Given the description of an element on the screen output the (x, y) to click on. 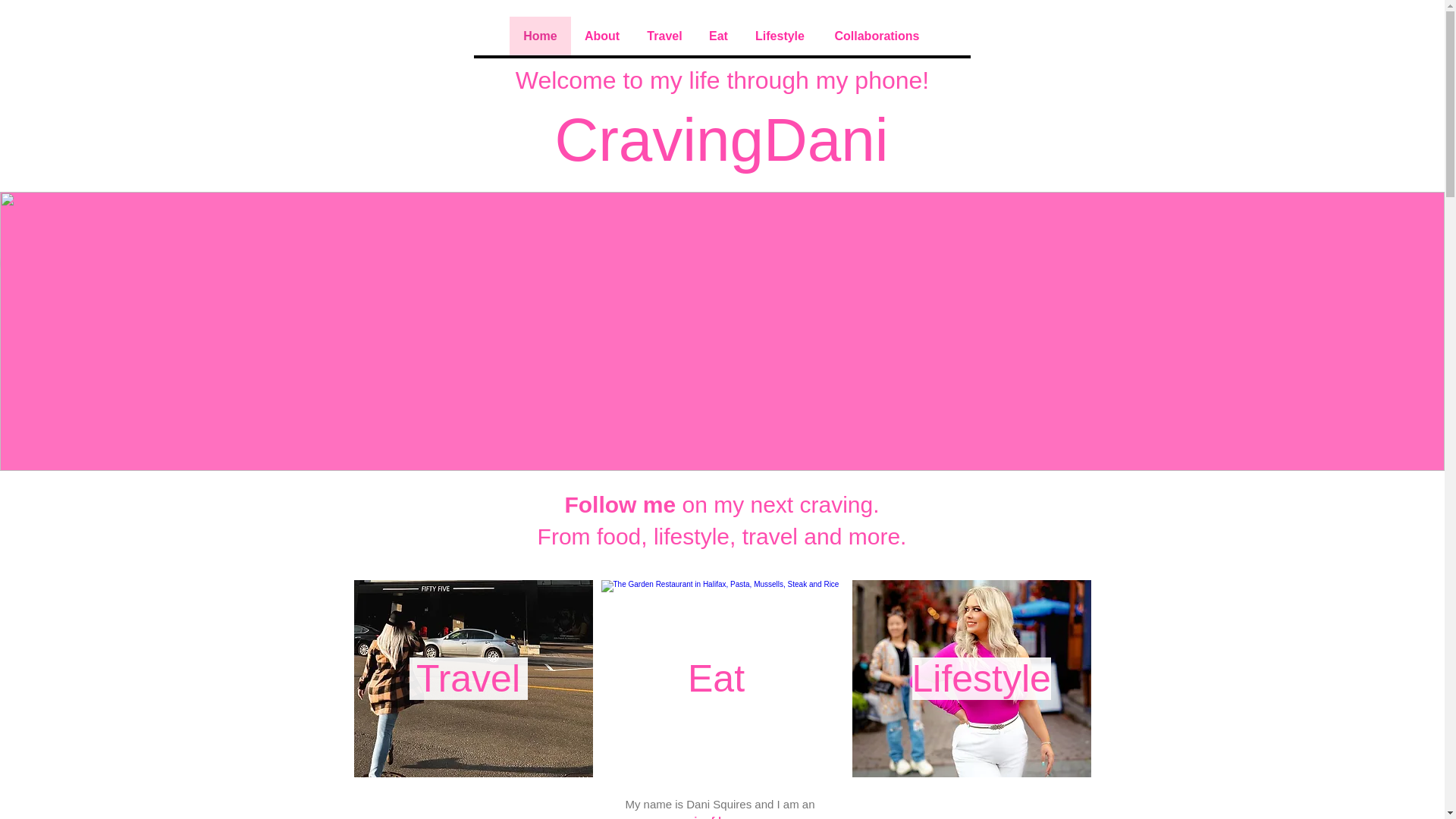
Travel (468, 678)
Cravingdani, blonde girl in Old Montreal (970, 678)
Collaborations (876, 35)
Home (539, 35)
Eat (718, 35)
Lifestyle (980, 678)
Lifestyle (778, 35)
About (600, 35)
Travel by cravindani (472, 678)
Eat (715, 678)
Restaurant Reviews by cravingdani (718, 678)
Travel (663, 35)
